Given the description of an element on the screen output the (x, y) to click on. 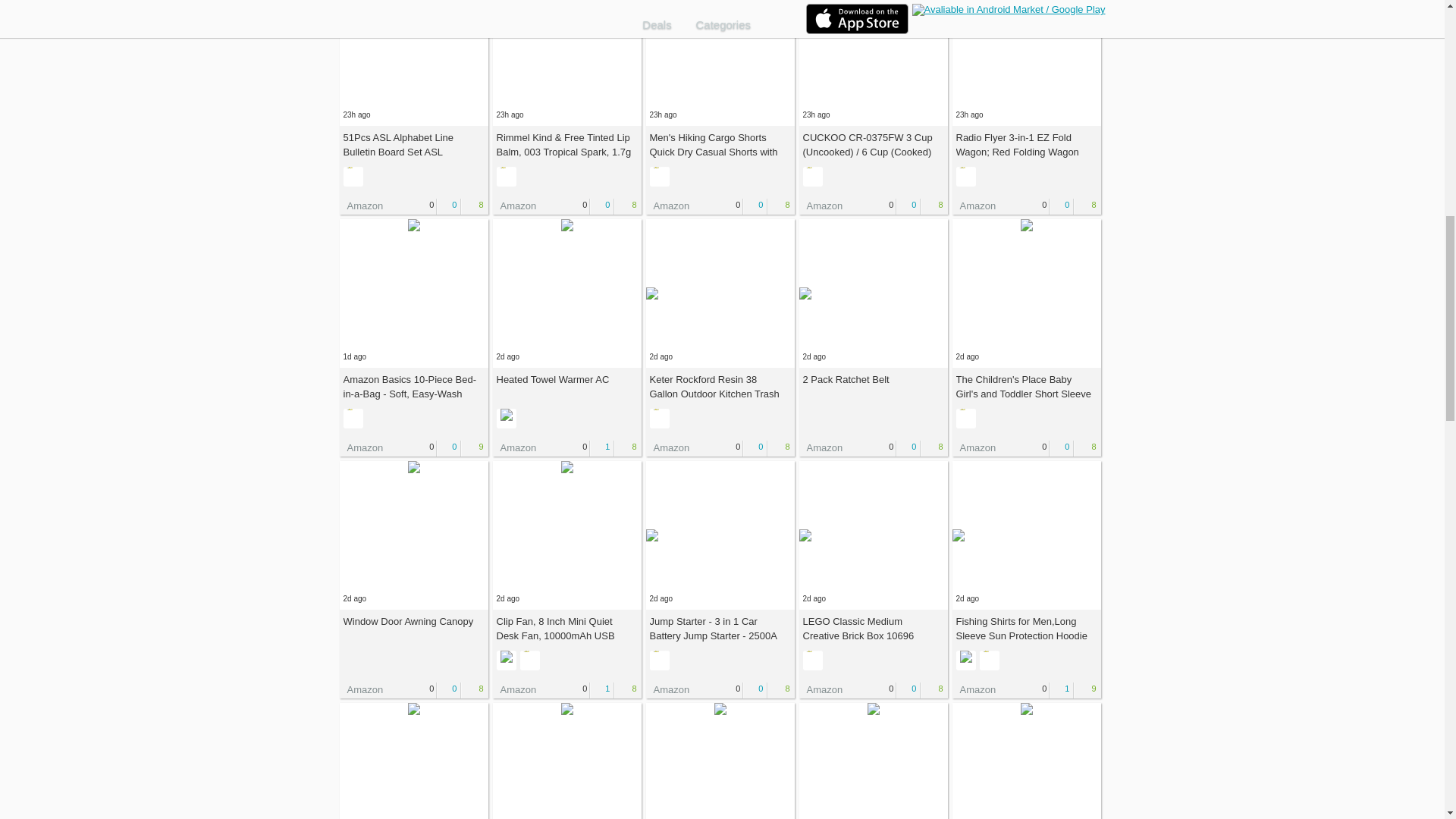
Amazon (668, 205)
Amazon (515, 205)
Amazon (821, 205)
Amazon (974, 205)
Amazon (361, 205)
